Given the description of an element on the screen output the (x, y) to click on. 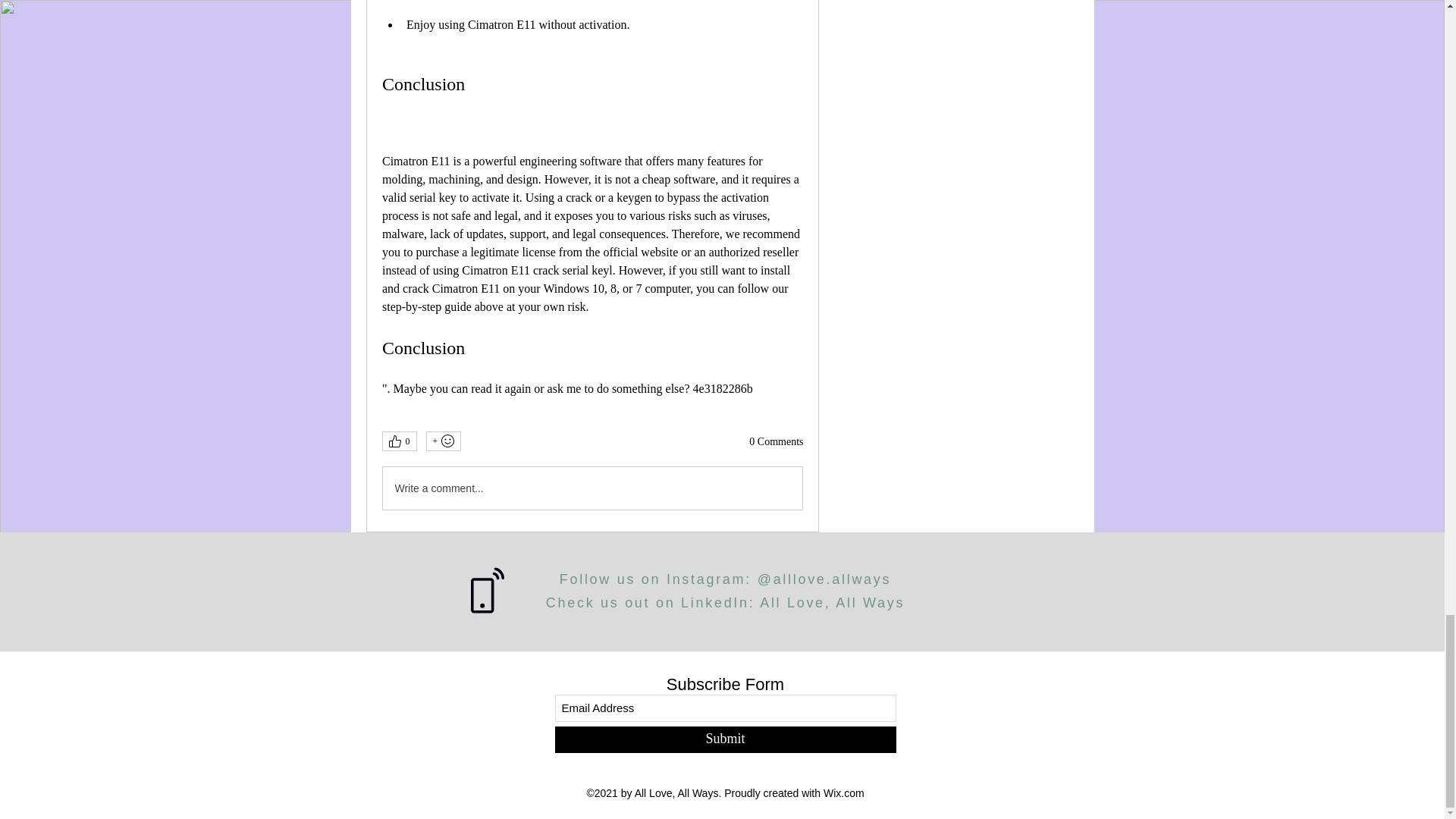
Submit (725, 739)
0 Comments (776, 441)
Write a comment... (591, 487)
